Given the description of an element on the screen output the (x, y) to click on. 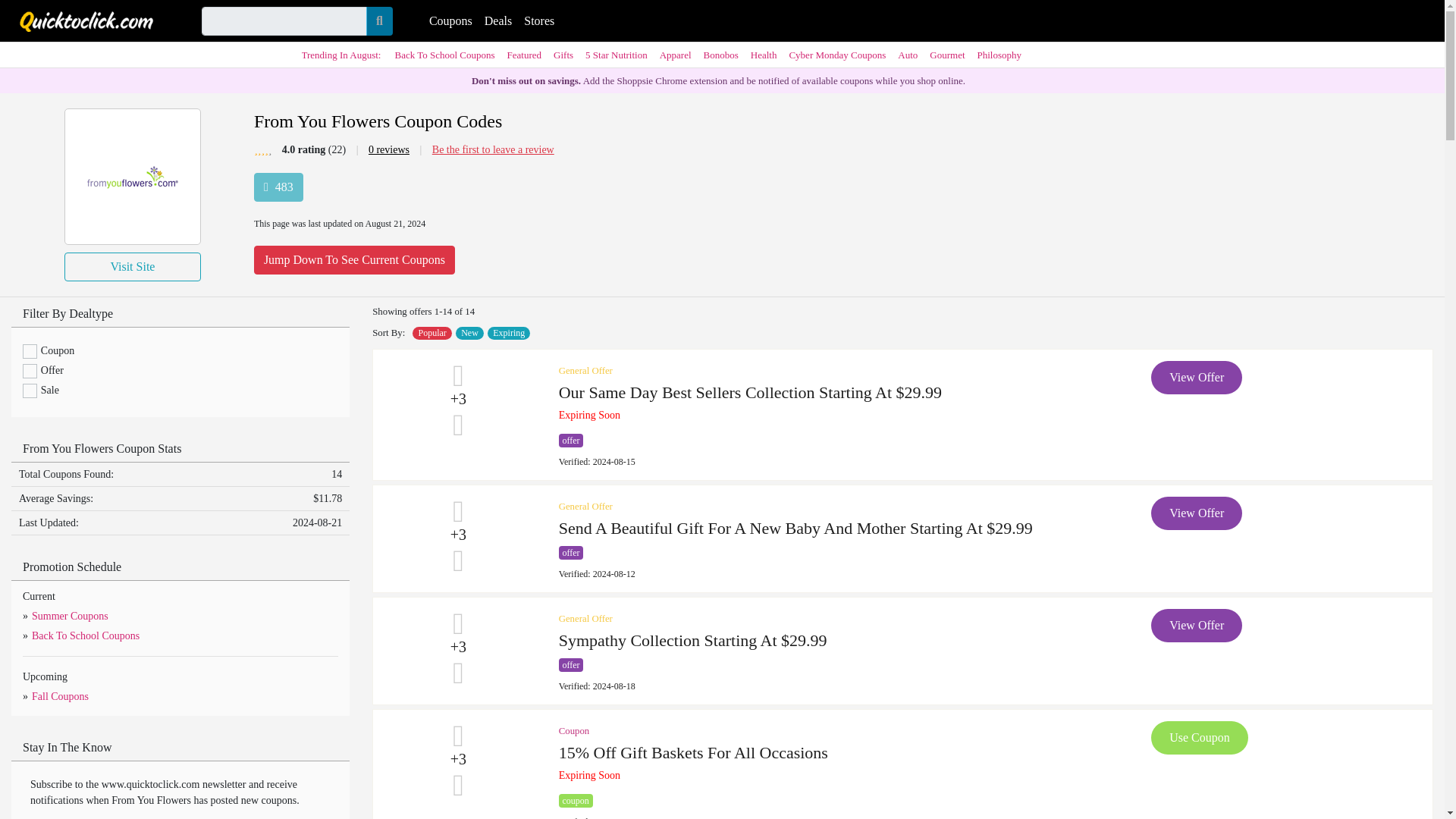
Gifts (563, 54)
Bonobos (720, 54)
Gourmet (947, 54)
Coupons (451, 20)
View Offer (1196, 625)
Cyber Monday Coupons (837, 54)
See Reviews (388, 149)
Deals (498, 20)
Back To School Coupons (444, 54)
